Given the description of an element on the screen output the (x, y) to click on. 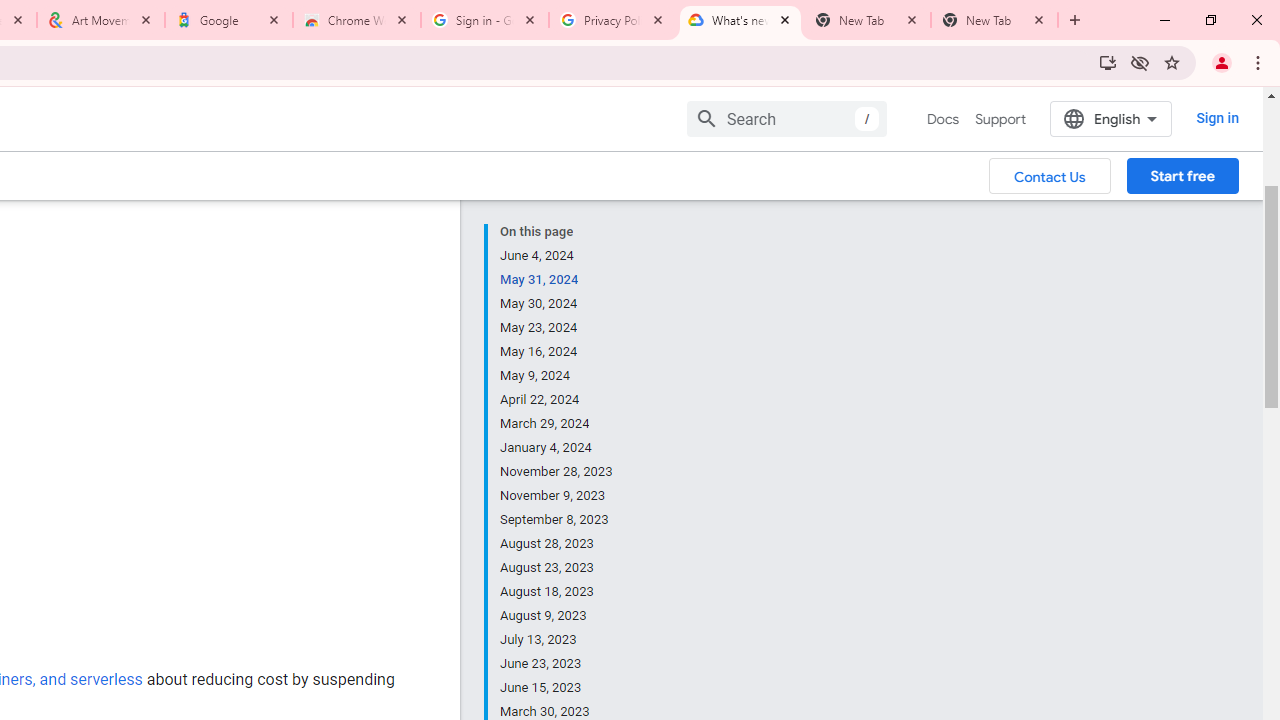
April 22, 2024 (557, 399)
Install Google Cloud (1107, 62)
Search (786, 118)
July 13, 2023 (557, 639)
November 28, 2023 (557, 471)
May 30, 2024 (557, 304)
Contact Us (1050, 175)
May 16, 2024 (557, 351)
March 29, 2024 (557, 423)
June 23, 2023 (557, 664)
